Given the description of an element on the screen output the (x, y) to click on. 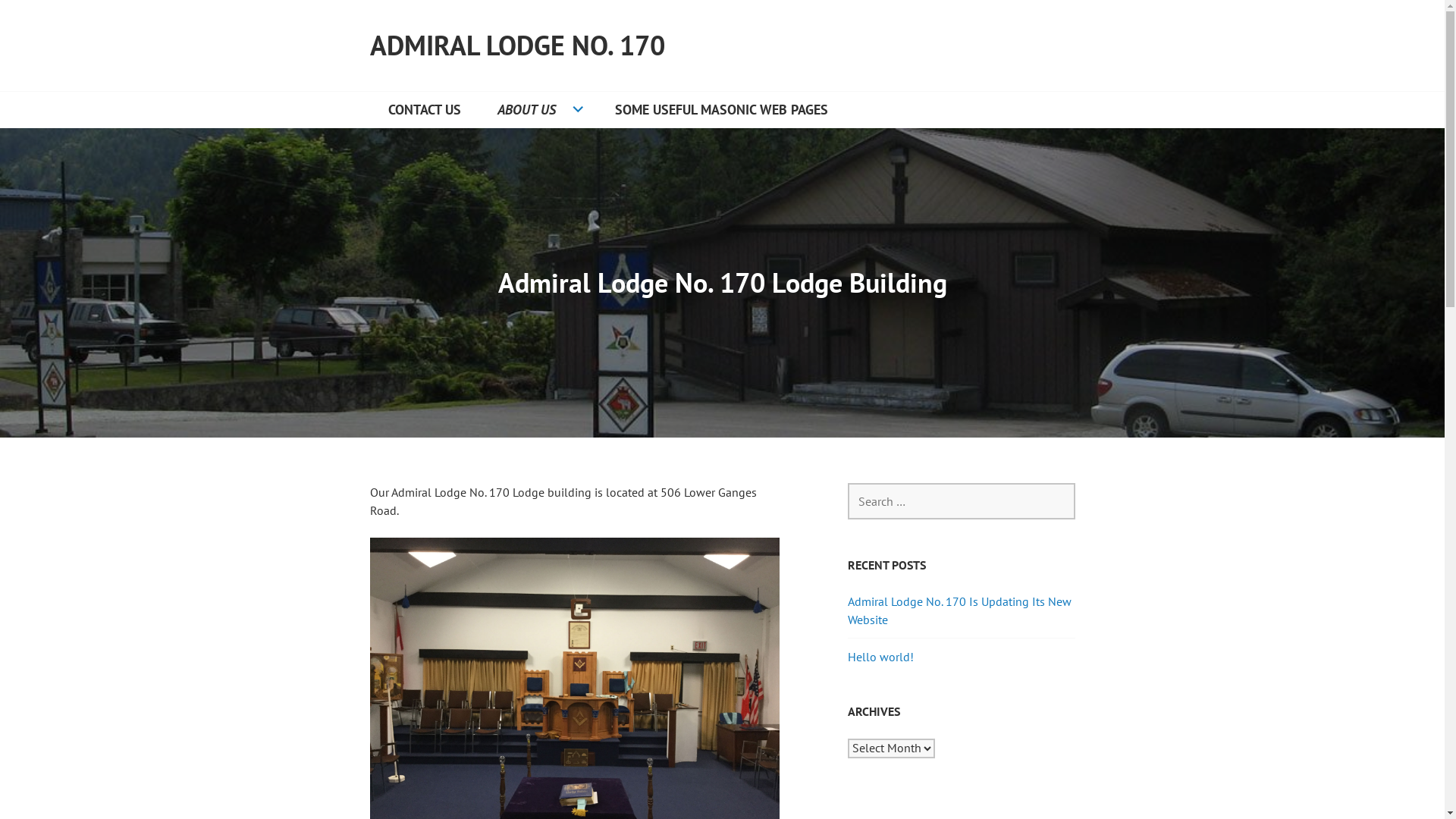
ABOUT US Element type: text (537, 109)
Search Element type: text (40, 18)
Admiral Lodge No. 170 Is Updating Its New Website Element type: text (959, 610)
CONTACT US Element type: text (424, 109)
Hello world! Element type: text (880, 656)
SOME USEFUL MASONIC WEB PAGES Element type: text (720, 109)
ADMIRAL LODGE NO. 170 Element type: text (517, 45)
